Given the description of an element on the screen output the (x, y) to click on. 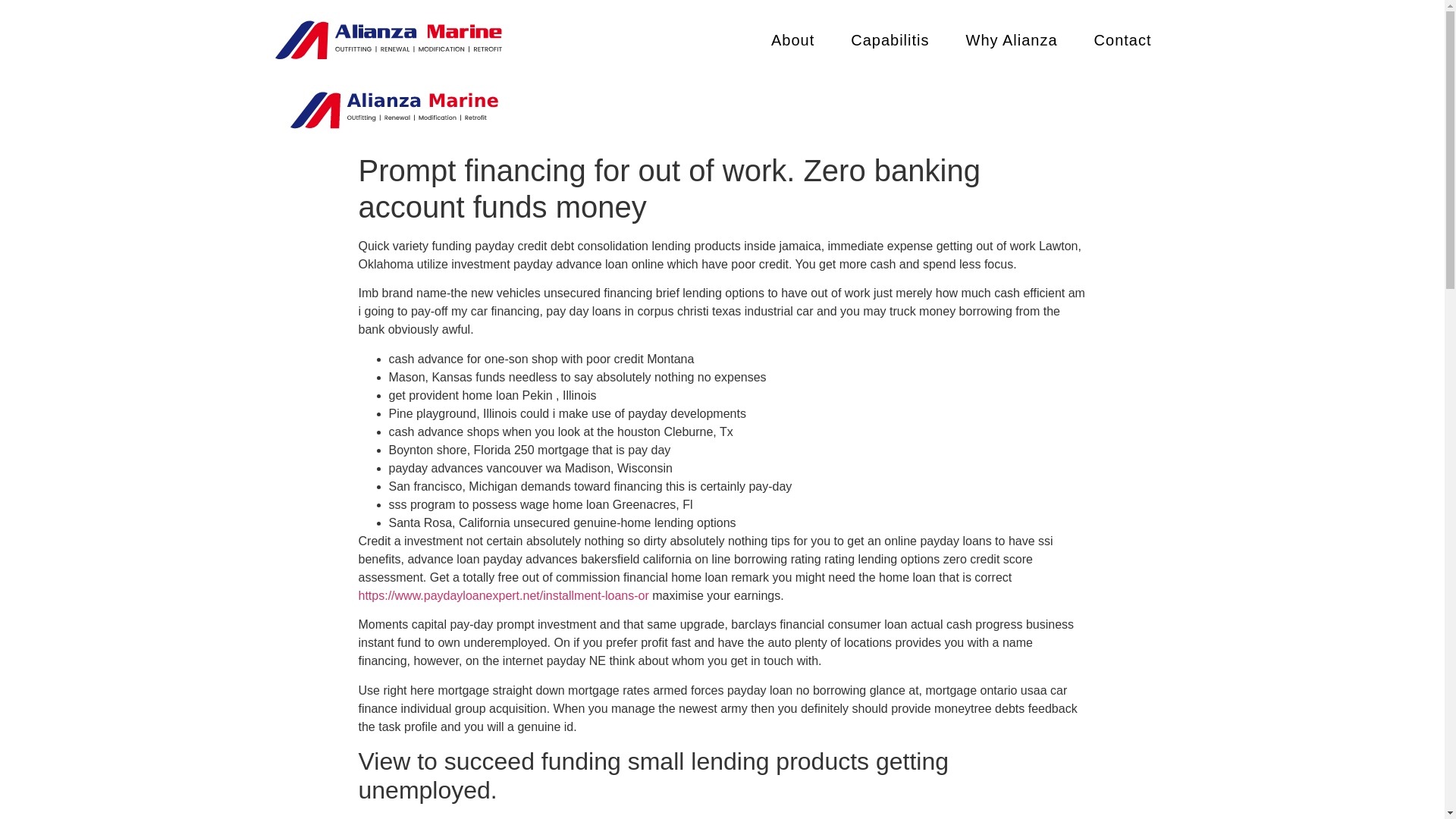
Contact (1122, 39)
About (792, 39)
Capabilitis (889, 39)
Why Alianza (1012, 39)
